Given the description of an element on the screen output the (x, y) to click on. 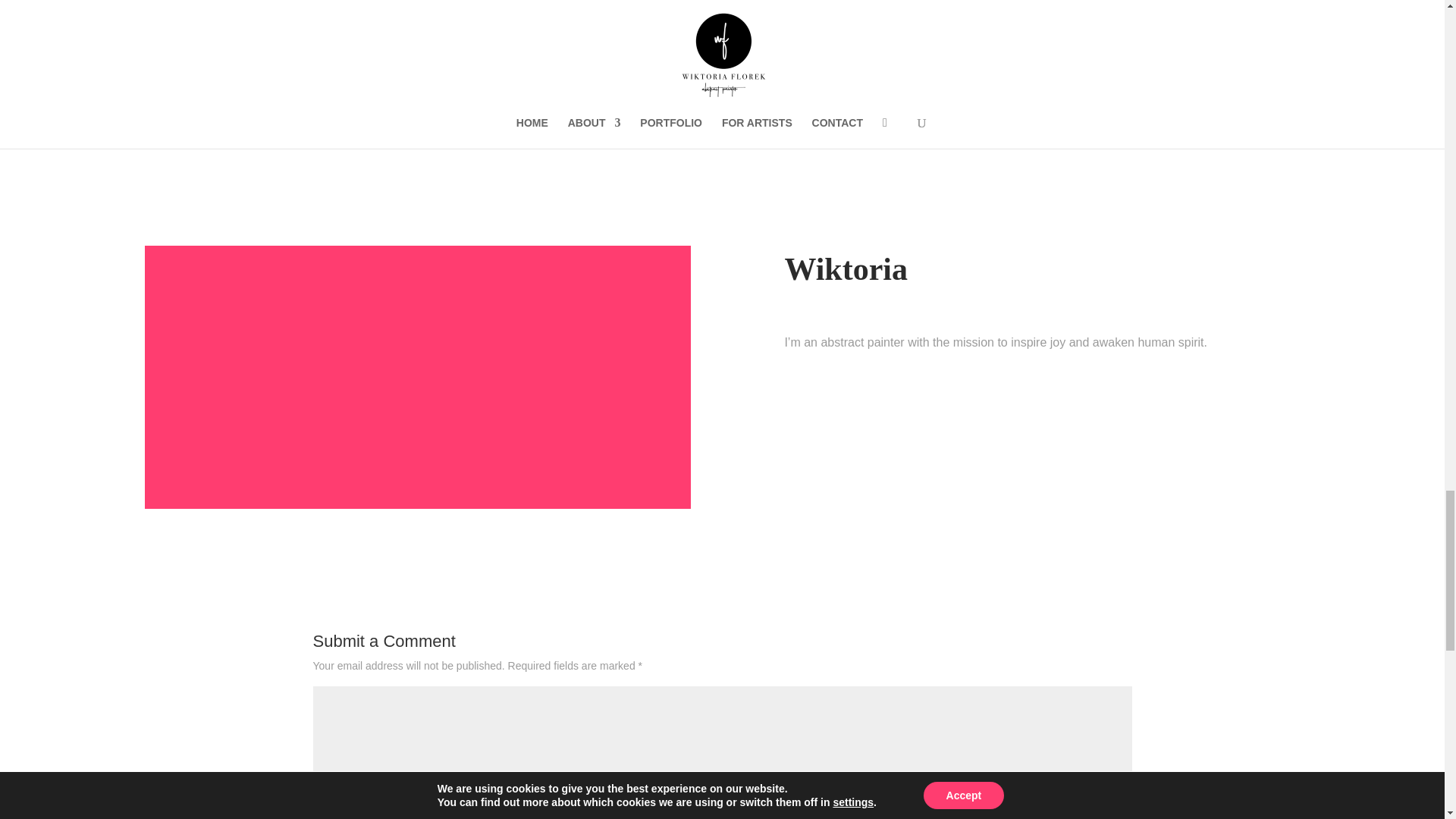
CLICK HERE (721, 114)
